Given the description of an element on the screen output the (x, y) to click on. 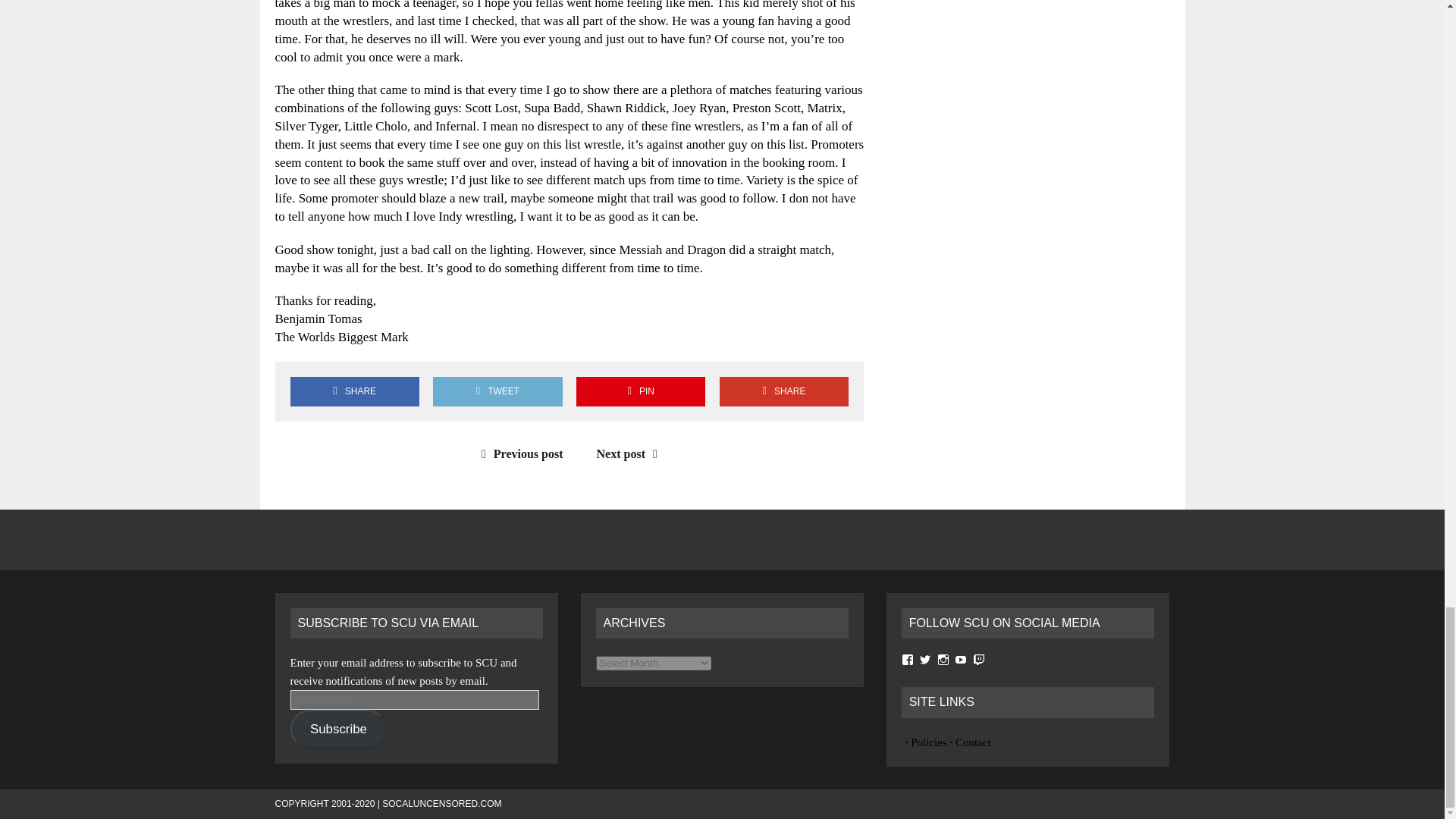
Share on Facebook (354, 391)
Pin This Post (640, 391)
Tweet This Post (497, 391)
